Given the description of an element on the screen output the (x, y) to click on. 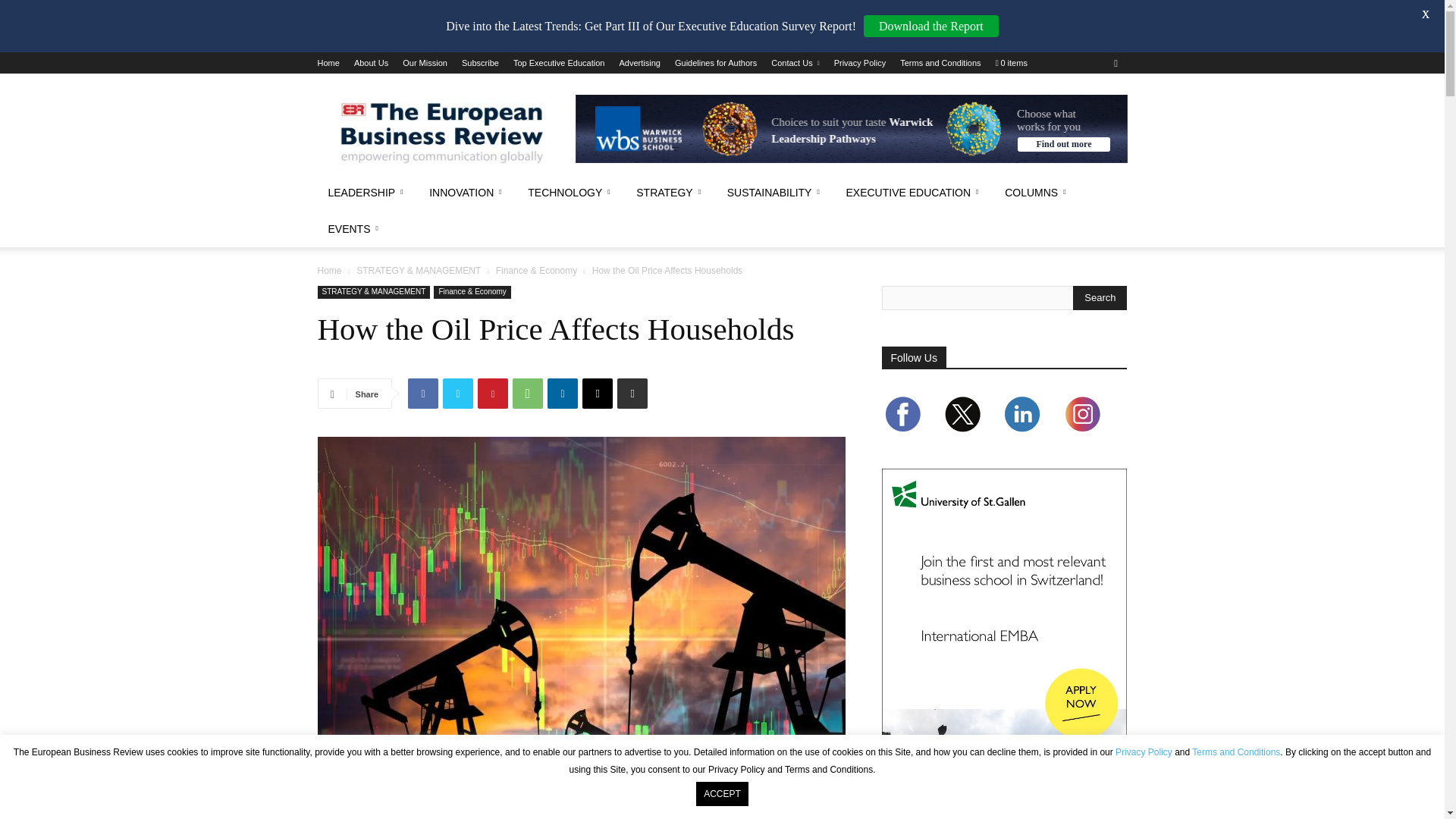
Innovation (467, 192)
Twitter (457, 393)
Search (1099, 297)
WhatsApp (527, 393)
Pinterest (492, 393)
Start shopping (1011, 62)
Facebook (422, 393)
advertisement (850, 128)
